Given the description of an element on the screen output the (x, y) to click on. 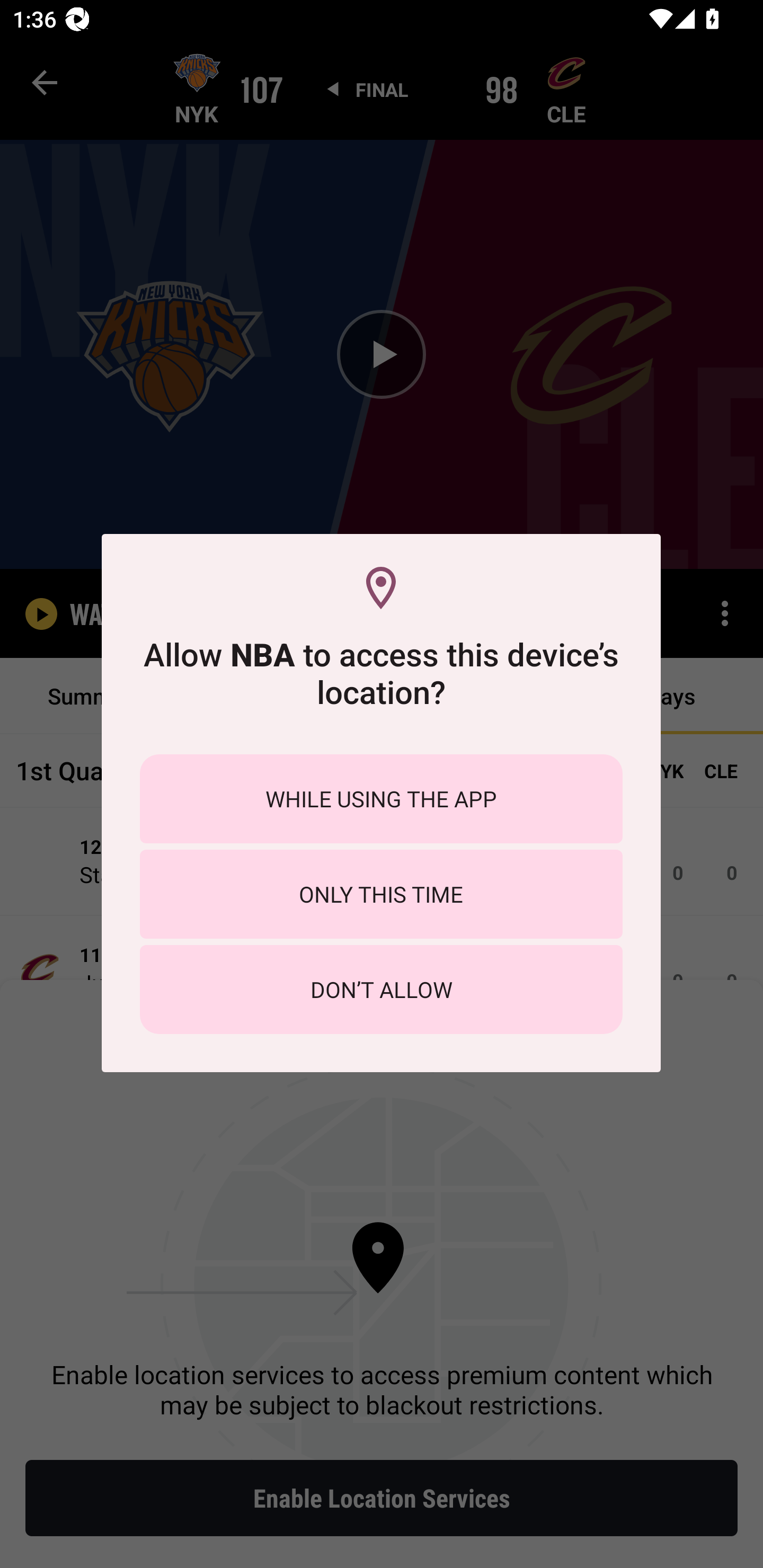
WHILE USING THE APP (380, 798)
ONLY THIS TIME (380, 894)
DON’T ALLOW (380, 989)
